Given the description of an element on the screen output the (x, y) to click on. 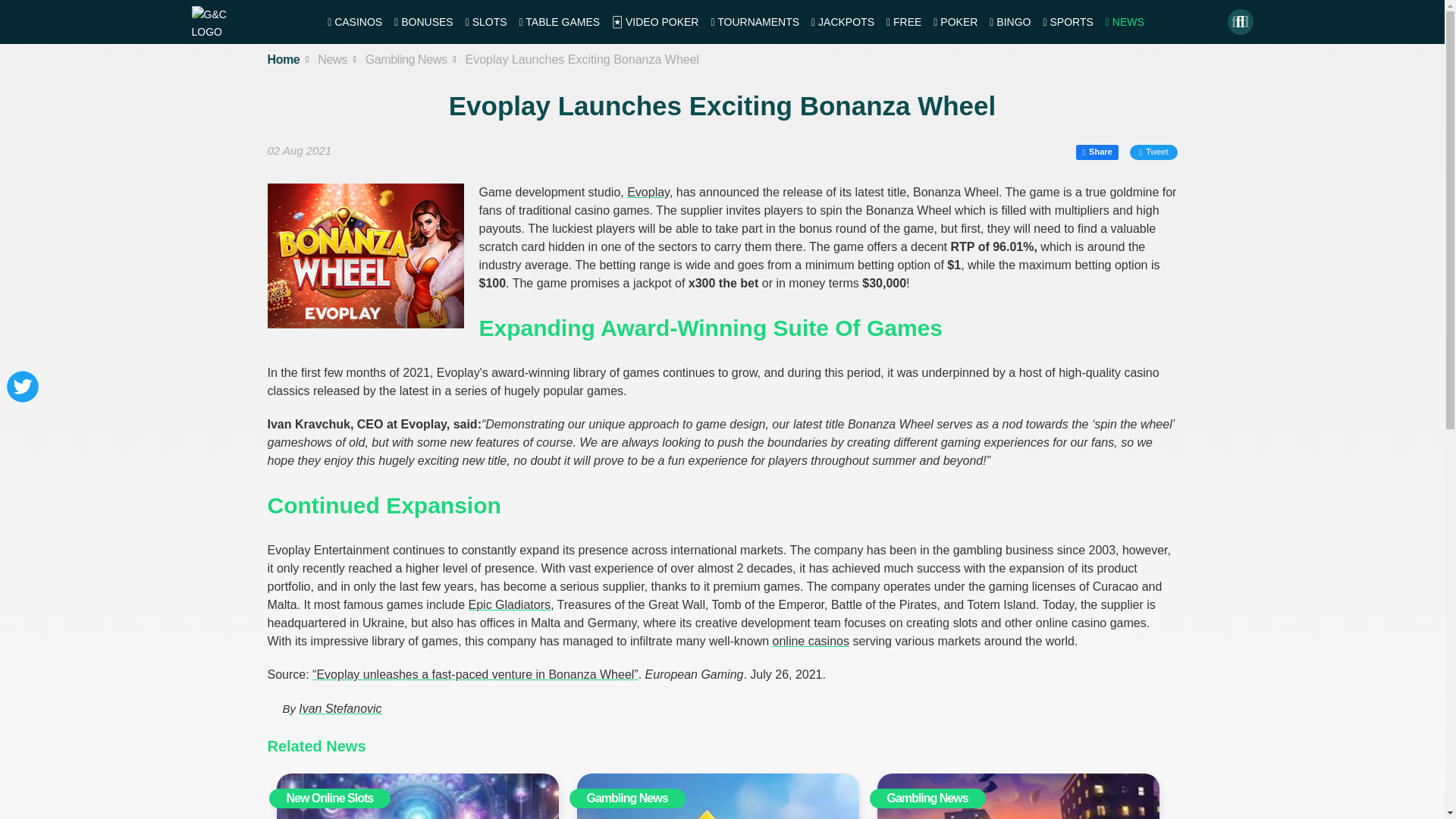
Online Casino Software (810, 640)
Epic Gladiators Review (509, 604)
Evoplay Casinos (648, 192)
